Given the description of an element on the screen output the (x, y) to click on. 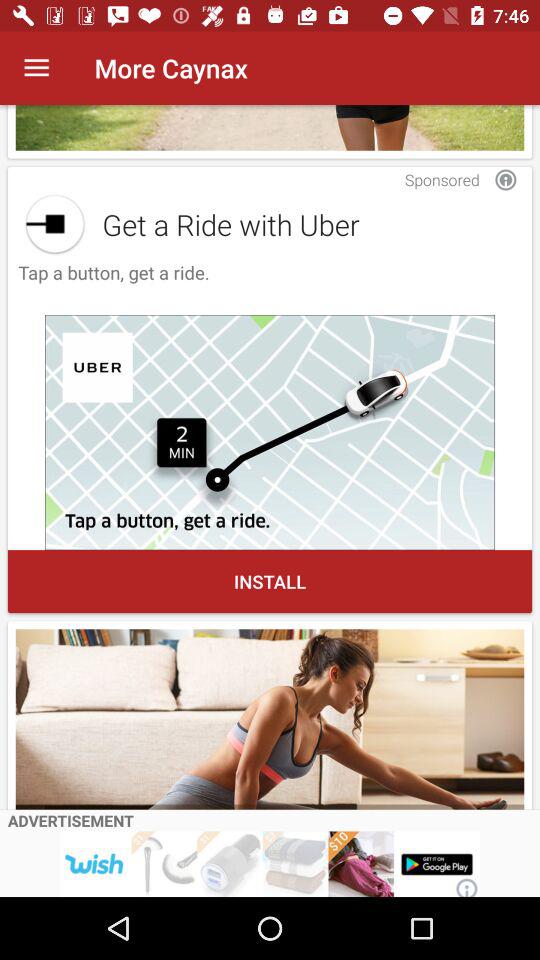
show information about sponsored advertisement (505, 179)
